Given the description of an element on the screen output the (x, y) to click on. 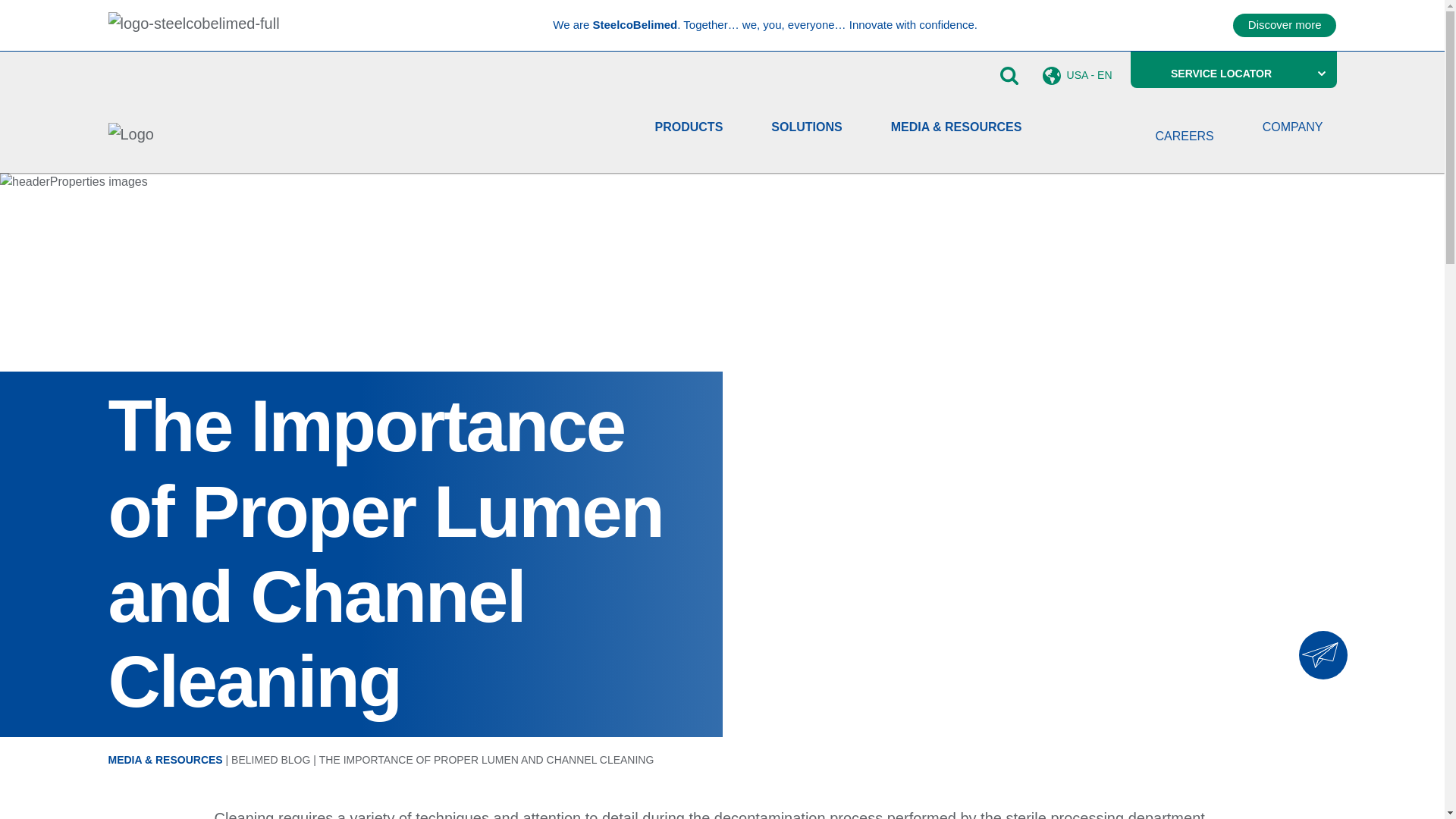
Discover more (1284, 24)
CAREERS (1183, 136)
SOLUTIONS (806, 126)
SERVICE LOCATOR (1232, 73)
USA - EN (1077, 75)
COMPANY (1292, 126)
PRODUCTS (689, 126)
